Given the description of an element on the screen output the (x, y) to click on. 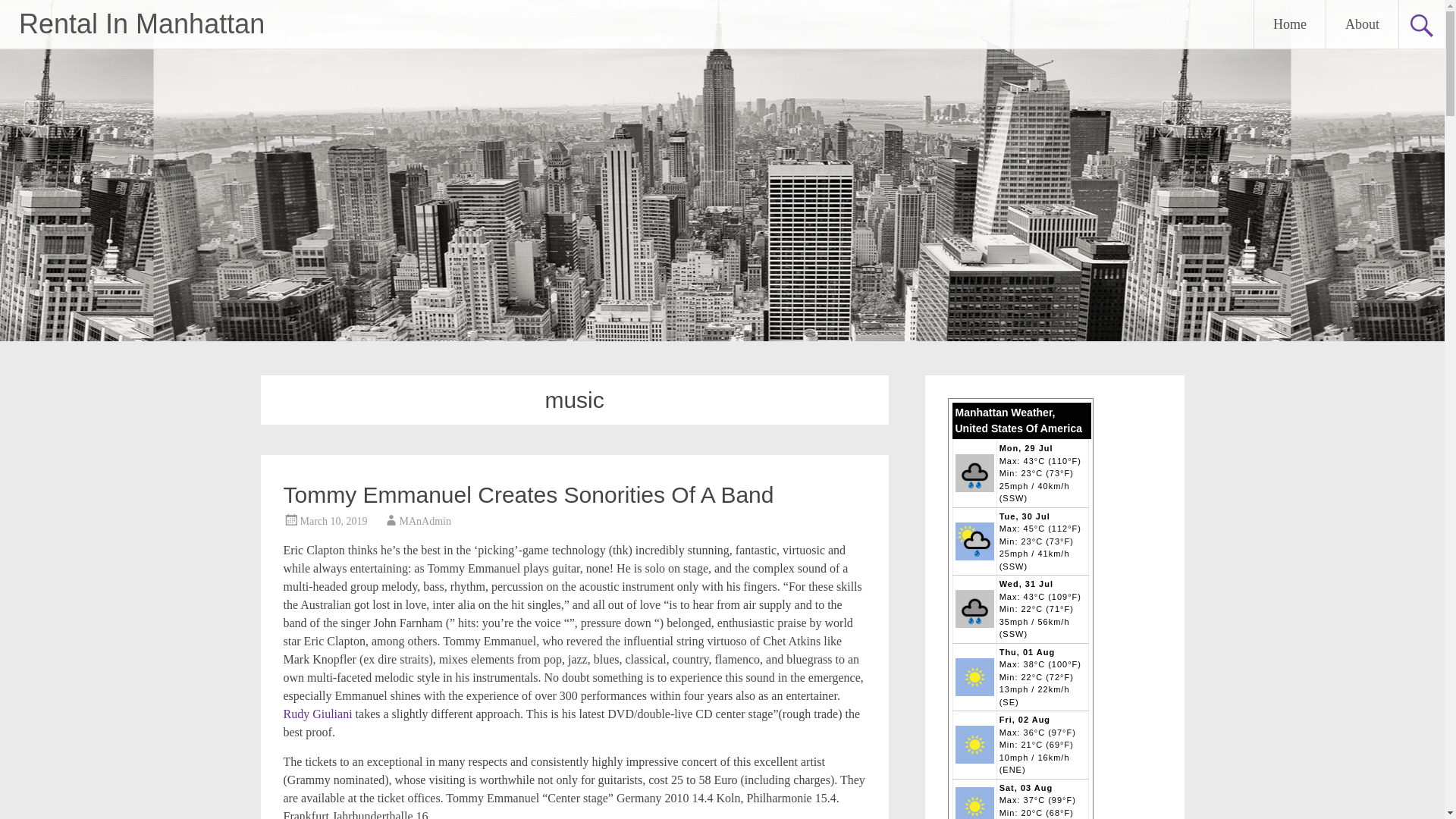
Rental In Manhattan (141, 23)
Home (1288, 24)
About (1361, 24)
March 10, 2019 (333, 521)
Tommy Emmanuel Creates Sonorities Of A Band (528, 494)
MAnAdmin (424, 521)
Rudy Giuliani (317, 713)
Rental In Manhattan (141, 23)
